Given the description of an element on the screen output the (x, y) to click on. 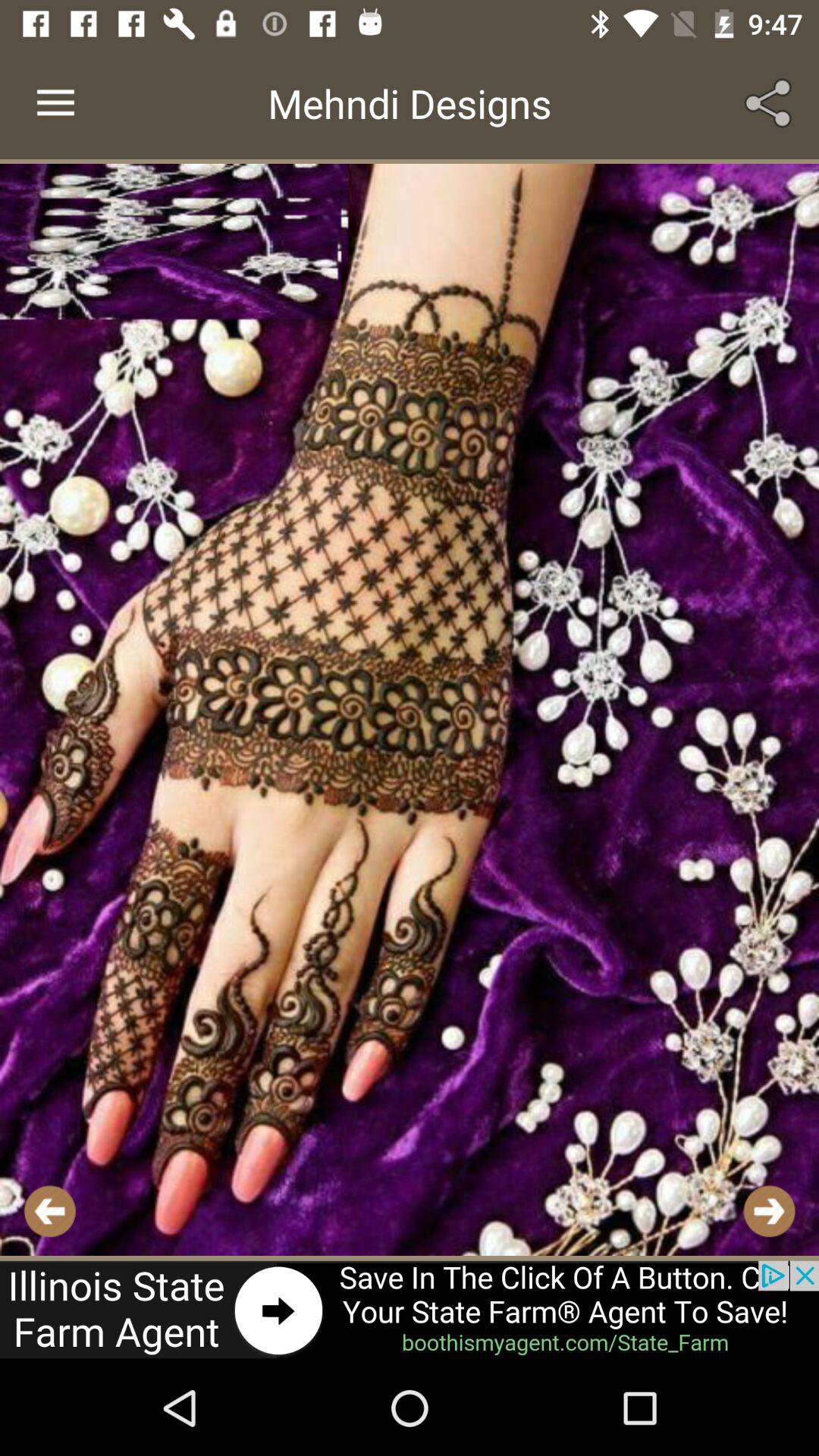
next (769, 1210)
